Given the description of an element on the screen output the (x, y) to click on. 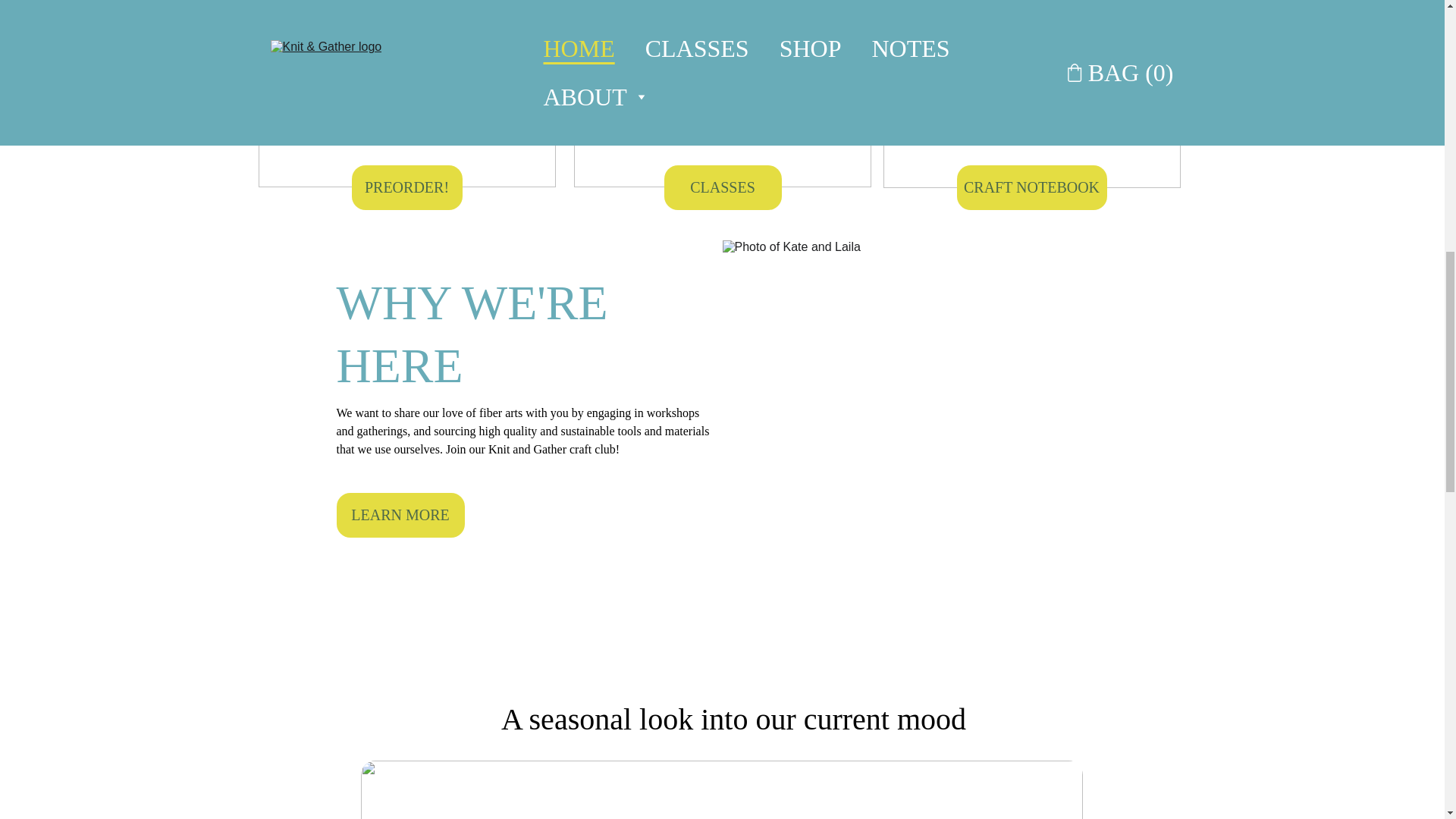
LEARN MORE (400, 515)
PREORDER! (407, 187)
CRAFT NOTEBOOK (1031, 187)
CLASSES (722, 187)
